Given the description of an element on the screen output the (x, y) to click on. 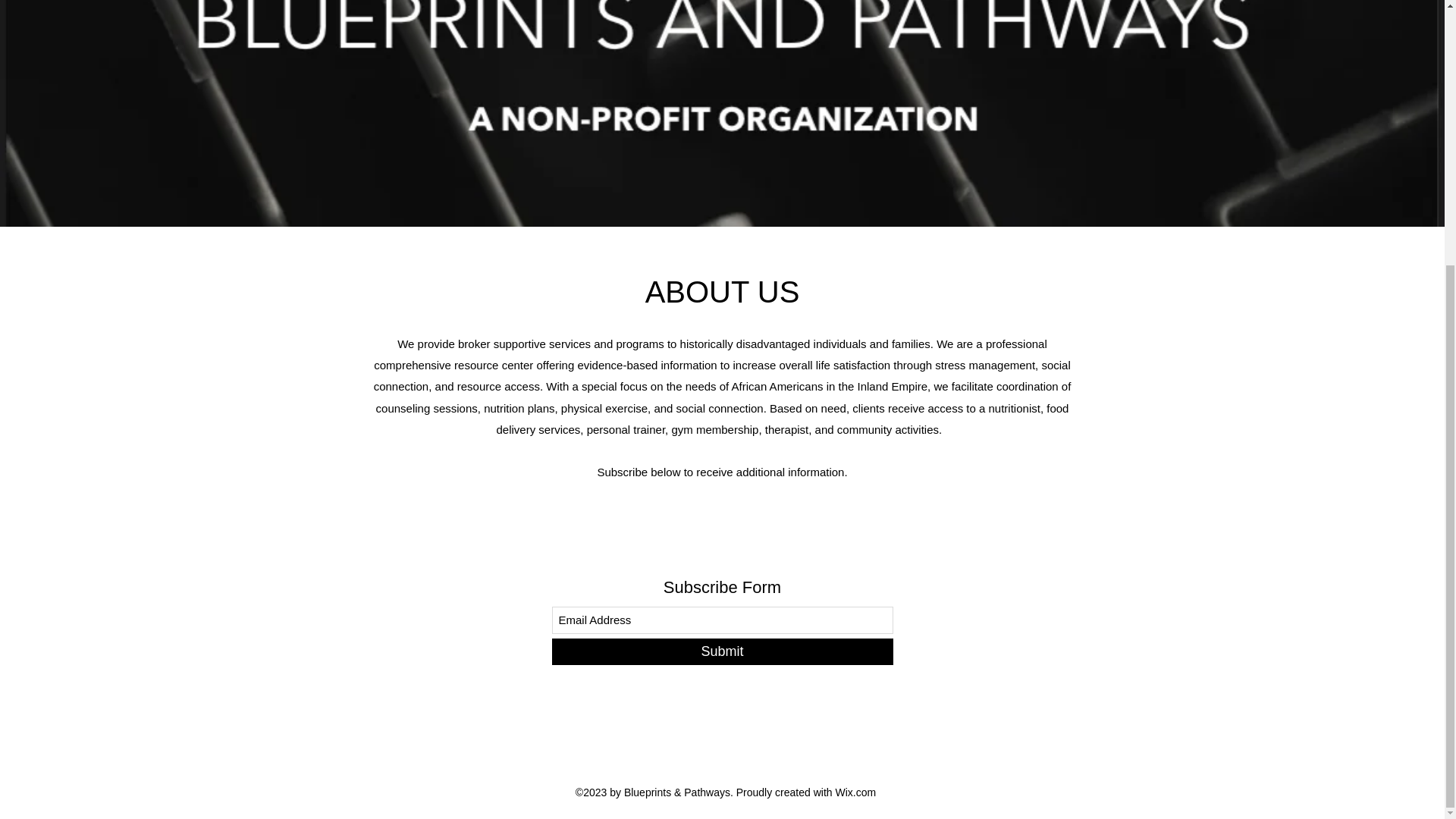
Submit (722, 651)
